Given the description of an element on the screen output the (x, y) to click on. 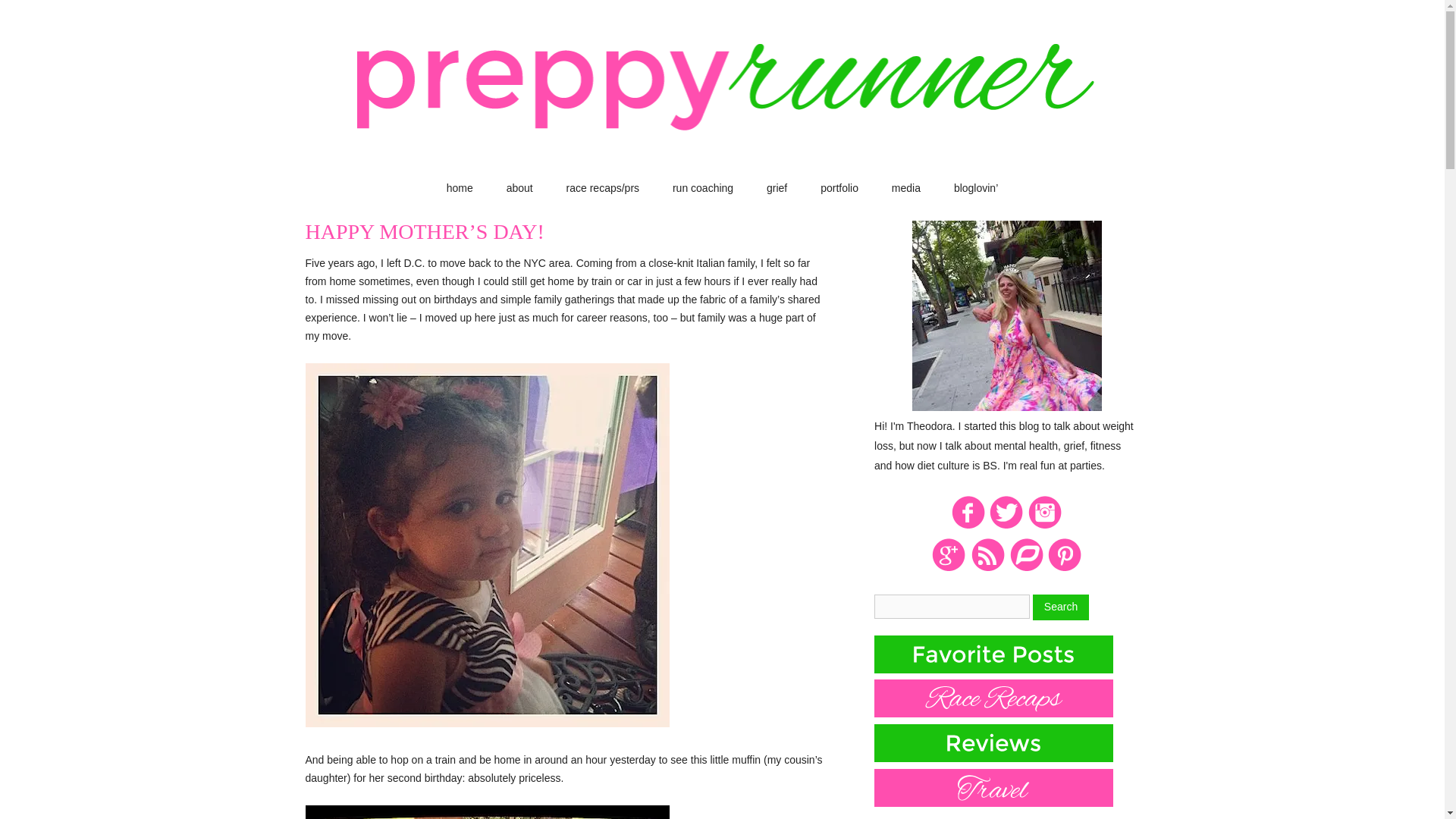
run coaching (702, 188)
home (459, 188)
RSS Feed (987, 568)
Search (1060, 606)
media (905, 188)
grief (777, 188)
Skip to content (756, 185)
Facebook (967, 526)
skip to content (756, 185)
Twitter (1006, 526)
Instagram (1044, 526)
Google Plus (948, 568)
portfolio (840, 188)
about (519, 188)
Running Training Log (1026, 568)
